Given the description of an element on the screen output the (x, y) to click on. 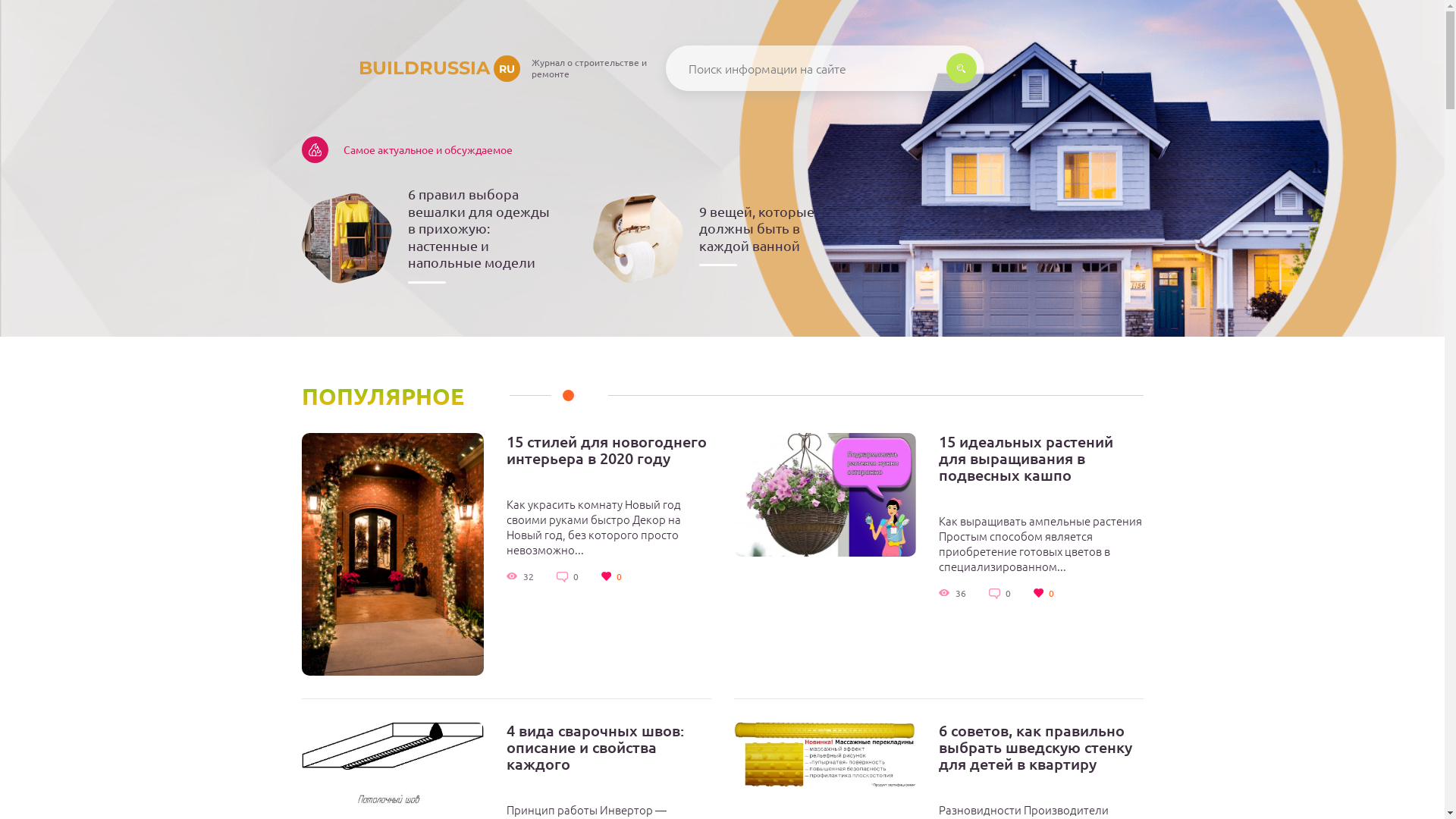
BUILDRUSSIA
RU Element type: text (410, 68)
